Given the description of an element on the screen output the (x, y) to click on. 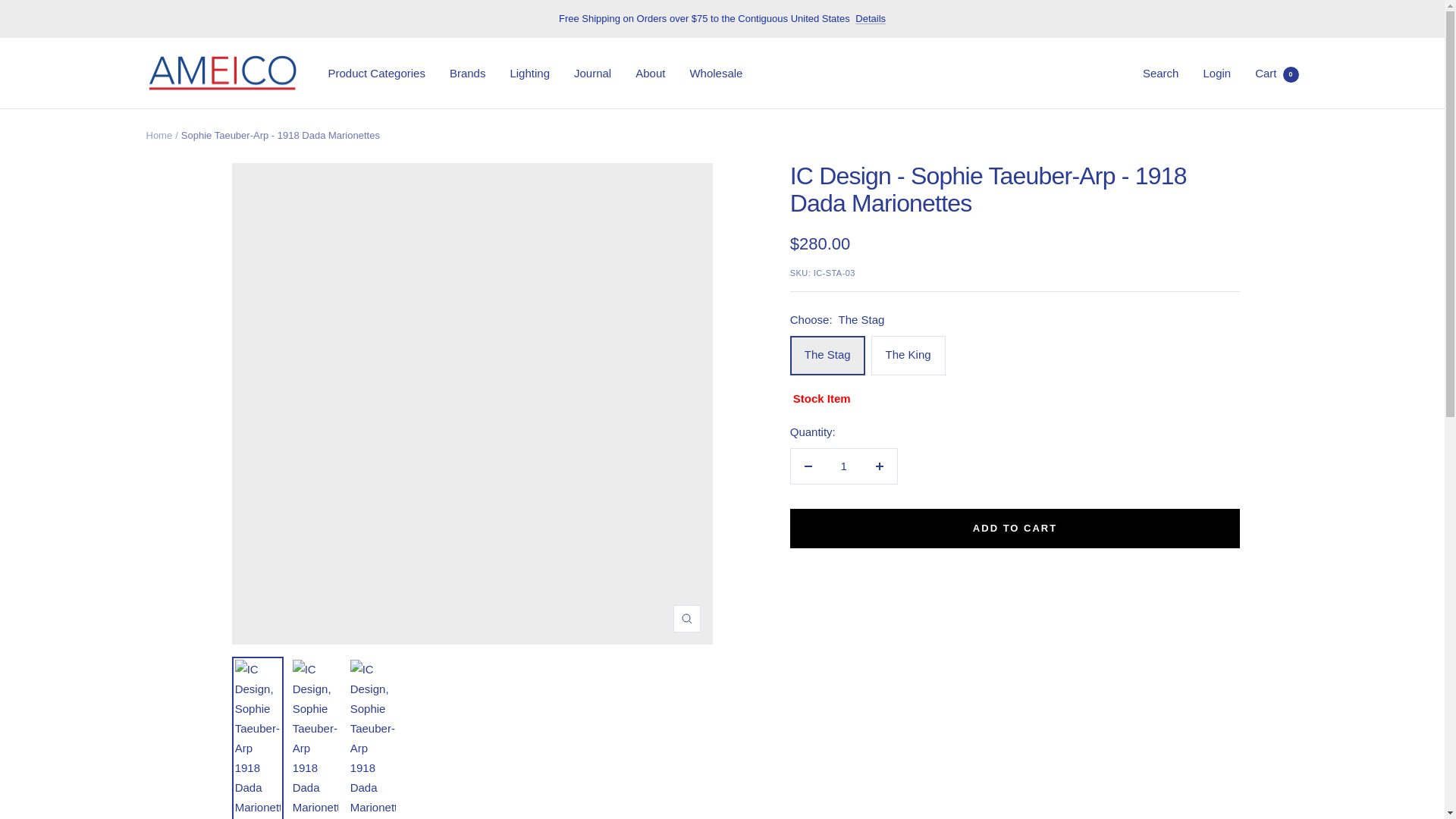
Journal (592, 73)
Home (158, 134)
Product Categories (376, 73)
About (649, 73)
Login (1216, 72)
Lighting (529, 73)
Details (870, 18)
Zoom (686, 618)
Brands (467, 73)
Search (1160, 72)
1 (843, 466)
Wholesale (1276, 72)
The King (715, 73)
